Given the description of an element on the screen output the (x, y) to click on. 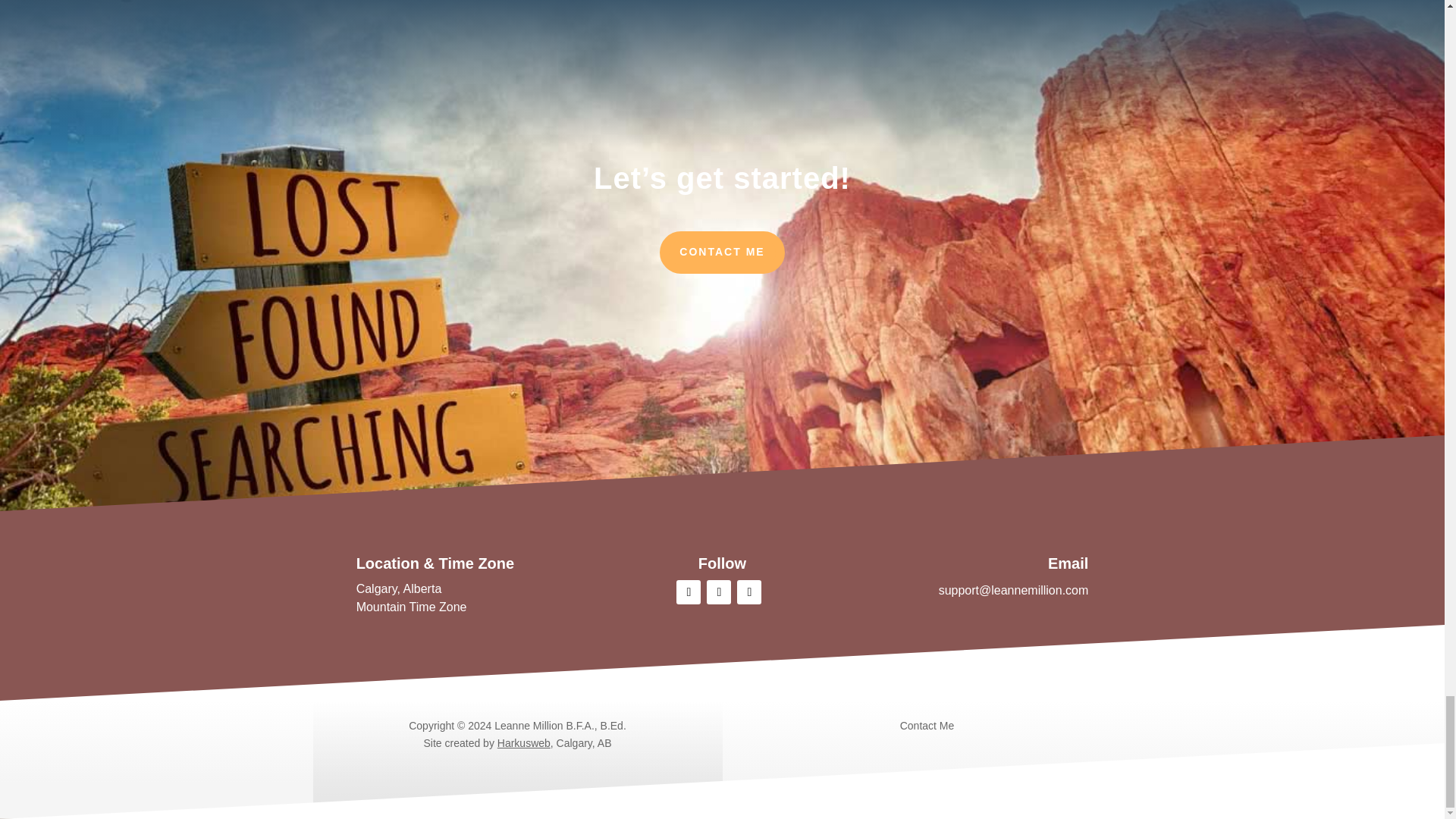
Contact Me (927, 725)
Follow on Instagram (718, 591)
Follow on Youtube (748, 591)
Follow on Facebook (688, 591)
Harkusweb (523, 743)
CONTACT ME (721, 251)
